Given the description of an element on the screen output the (x, y) to click on. 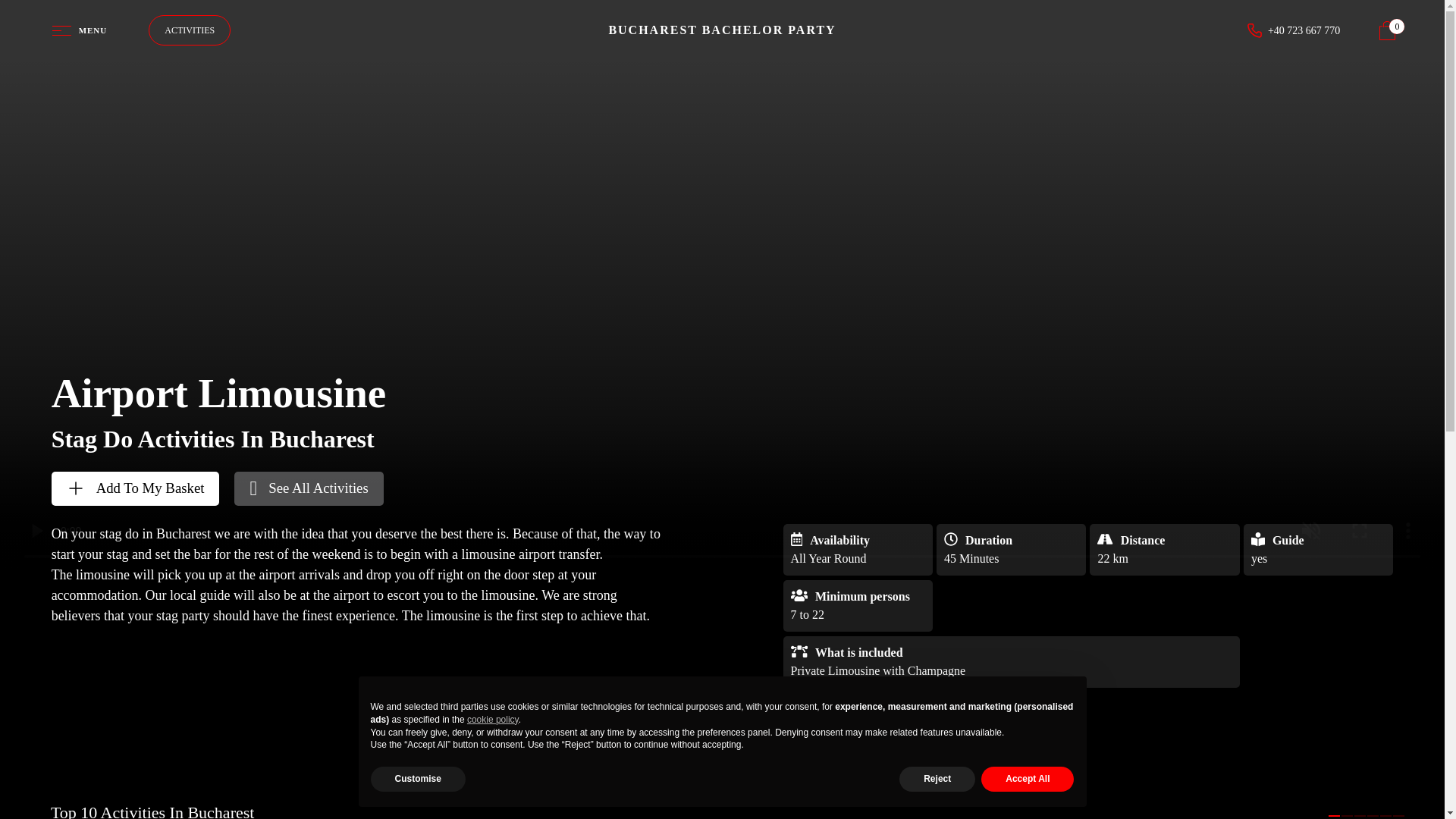
Add To My Basket (134, 488)
See All Activities (308, 488)
ACTIVITIES (189, 30)
MENU (80, 30)
BUCHAREST BACHELOR PARTY (721, 30)
